Given the description of an element on the screen output the (x, y) to click on. 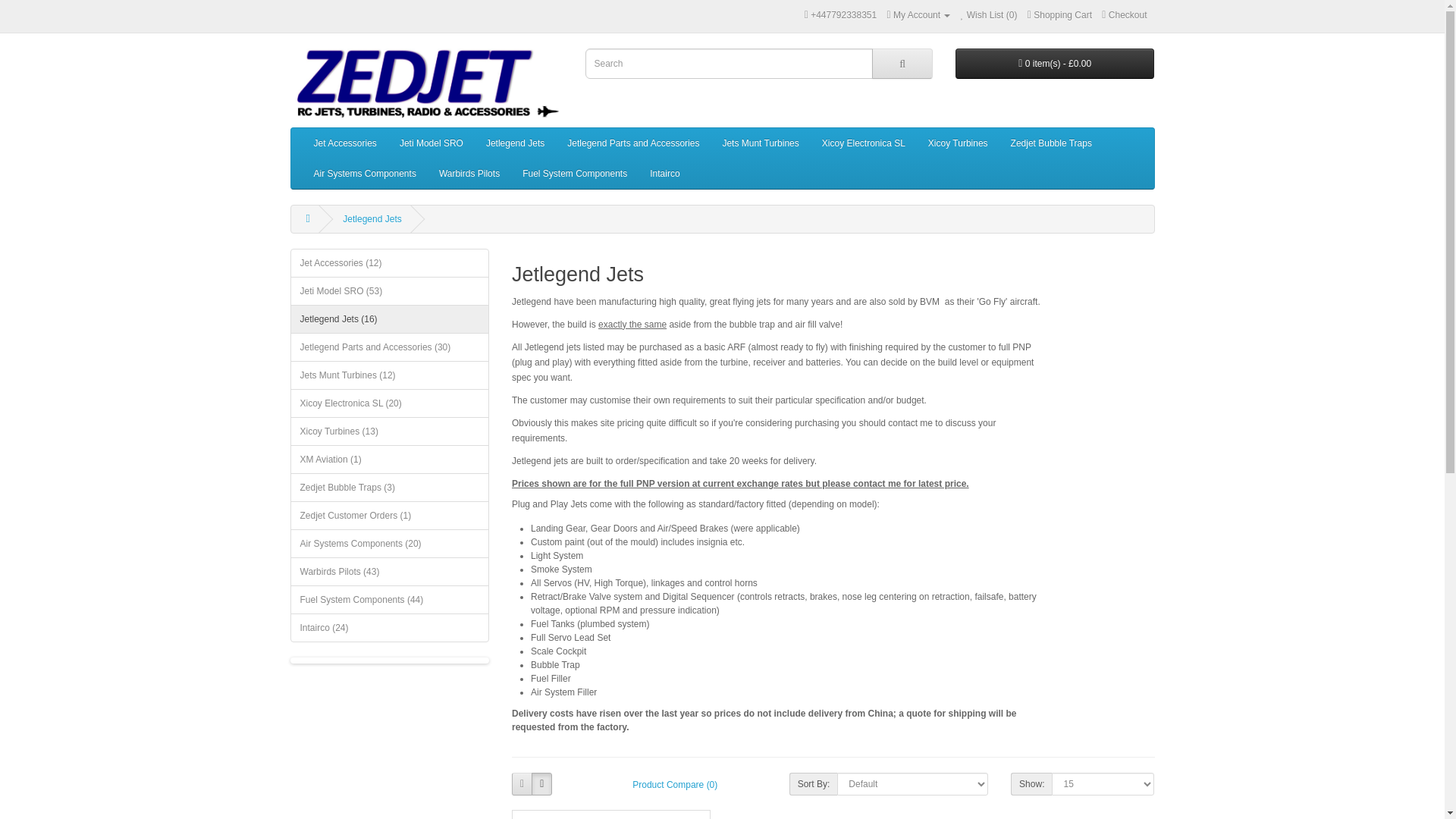
Jetlegend Parts and Accessories (633, 142)
Checkout (1124, 14)
Fuel System Components (575, 173)
Jet Accessories (344, 142)
Jeti Model SRO (431, 142)
Intairco (664, 173)
Checkout (1124, 14)
Xicoy Turbines (957, 142)
Jetlegend YAK 130 1:5 (610, 814)
Air Systems Components (363, 173)
